Given the description of an element on the screen output the (x, y) to click on. 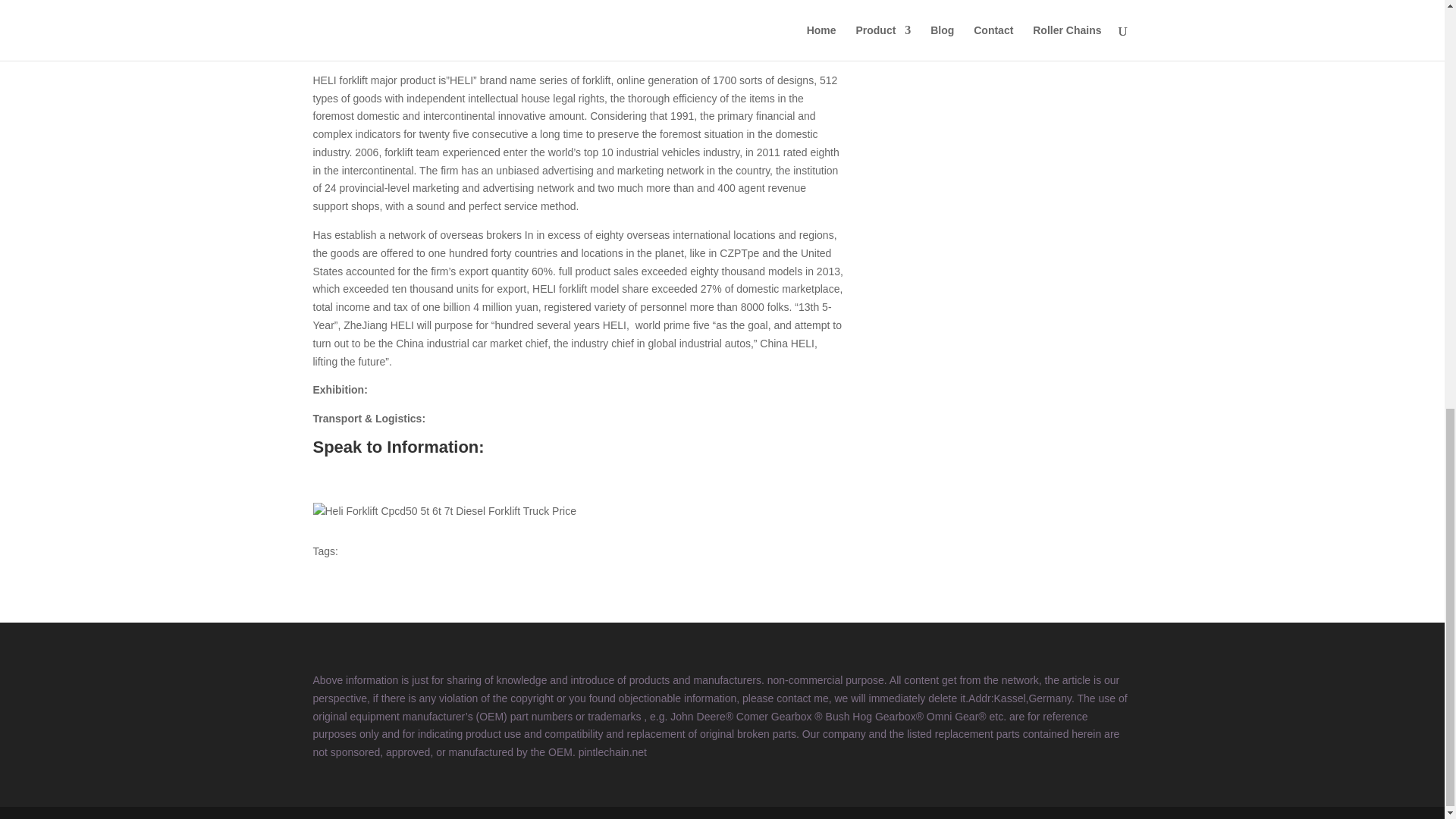
Heli Forklift Cpcd50 5t 6t 7t Diesel Forklift Truck Price (444, 511)
